Given the description of an element on the screen output the (x, y) to click on. 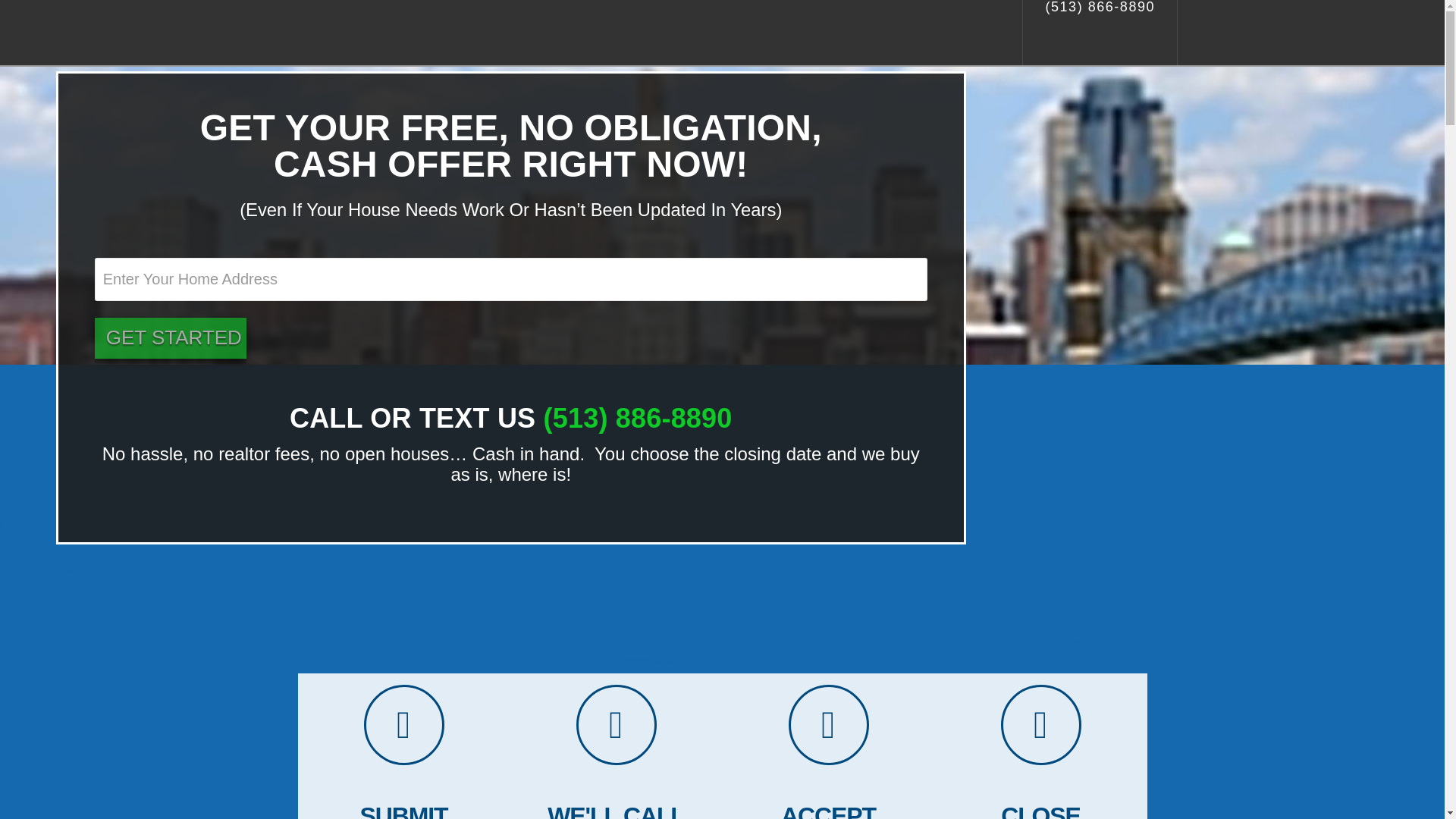
Get Started (170, 337)
Get Started (170, 337)
Get Started (456, 26)
